Given the description of an element on the screen output the (x, y) to click on. 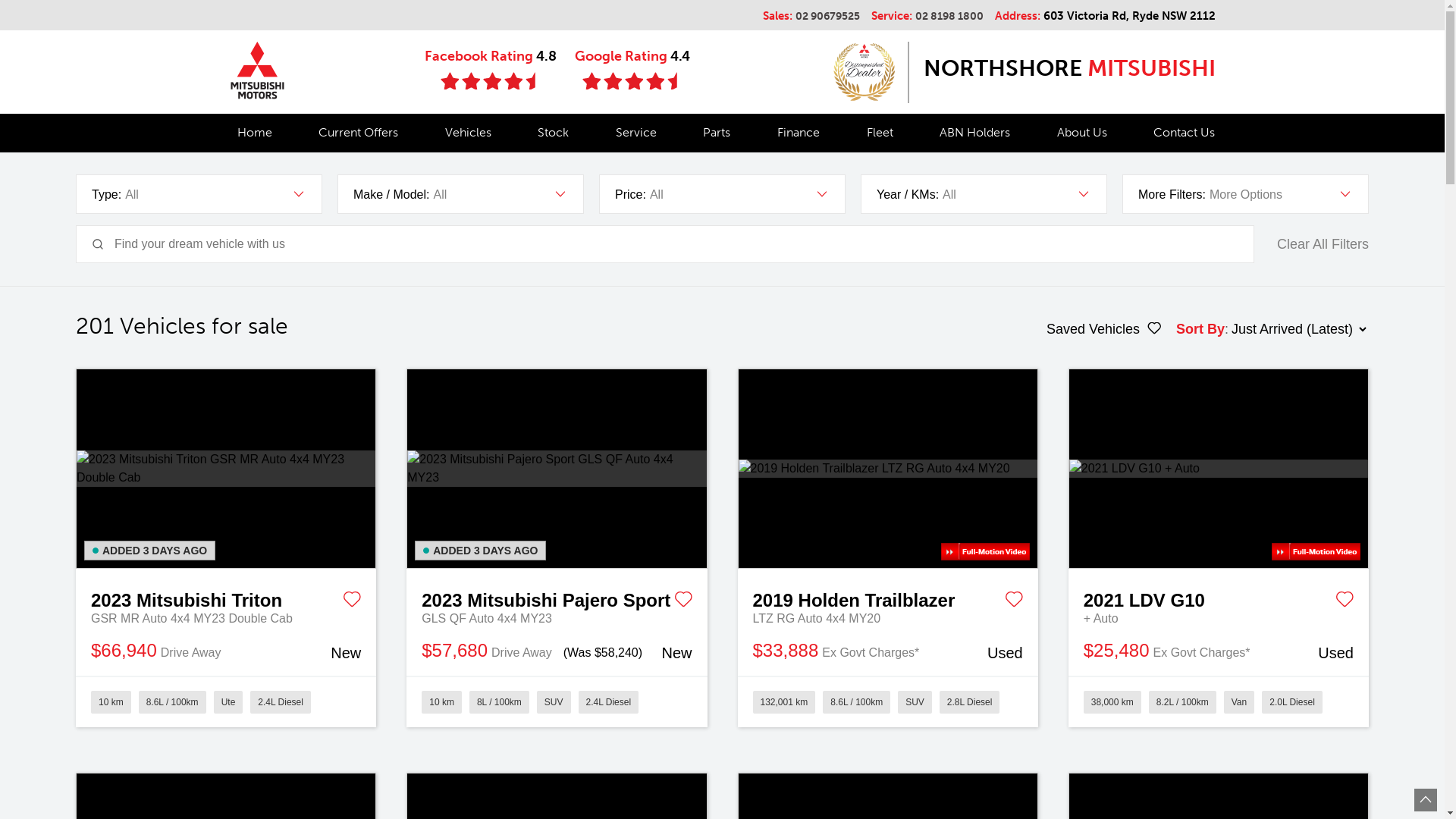
2021 LDV G10 + Auto Element type: hover (1218, 468)
2023 Mitsubishi Triton GSR MR Auto 4x4 MY23 Double Cab Element type: hover (225, 468)
Google Rating 4.4 Element type: text (632, 69)
2021 LDV G10
+ Auto Element type: text (1218, 597)
$57,680
Drive Away
(Was $58,240)
New Element type: text (556, 651)
Fleet Element type: text (879, 132)
Service Element type: text (636, 132)
Finance Element type: text (798, 132)
Save Vehicle Element type: hover (351, 601)
2019 Holden Trailblazer LTZ RG Auto 4x4 MY20 Element type: hover (887, 468)
Parts Element type: text (716, 132)
132,001 km
8.6L / 100km
SUV
2.8L Diesel Element type: text (887, 701)
$33,888
Ex Govt Charges*
Used Element type: text (887, 651)
2023 Mitsubishi Pajero Sport GLS QF Auto 4x4 MY23 Element type: hover (556, 468)
Saved Vehicles Element type: text (1103, 329)
Current Offers Element type: text (357, 132)
10 km
8L / 100km
SUV
2.4L Diesel Element type: text (556, 701)
ABN Holders Element type: text (974, 132)
2019 Holden Trailblazer
LTZ RG Auto 4x4 MY20 Element type: text (887, 597)
Save Vehicle Element type: hover (1013, 601)
2023 Mitsubishi Pajero Sport
GLS QF Auto 4x4 MY23 Element type: text (556, 597)
$66,940
Drive Away
New Element type: text (225, 651)
Vehicles Element type: text (467, 132)
About Us Element type: text (1081, 132)
02 90679525 Element type: text (826, 16)
Clear All Filters Element type: text (1322, 244)
38,000 km
8.2L / 100km
Van
2.0L Diesel Element type: text (1218, 701)
2023 Mitsubishi Triton
GSR MR Auto 4x4 MY23 Double Cab Element type: text (225, 597)
Home Element type: text (254, 132)
Save Vehicle Element type: hover (1344, 601)
Stock Element type: text (553, 132)
10 km
8.6L / 100km
Ute
2.4L Diesel Element type: text (225, 701)
02 8198 1800 Element type: text (948, 16)
Facebook Rating 4.8 Element type: text (490, 69)
Save Vehicle Element type: hover (682, 601)
$25,480
Ex Govt Charges*
Used Element type: text (1218, 651)
Contact Us Element type: text (1179, 132)
